Given the description of an element on the screen output the (x, y) to click on. 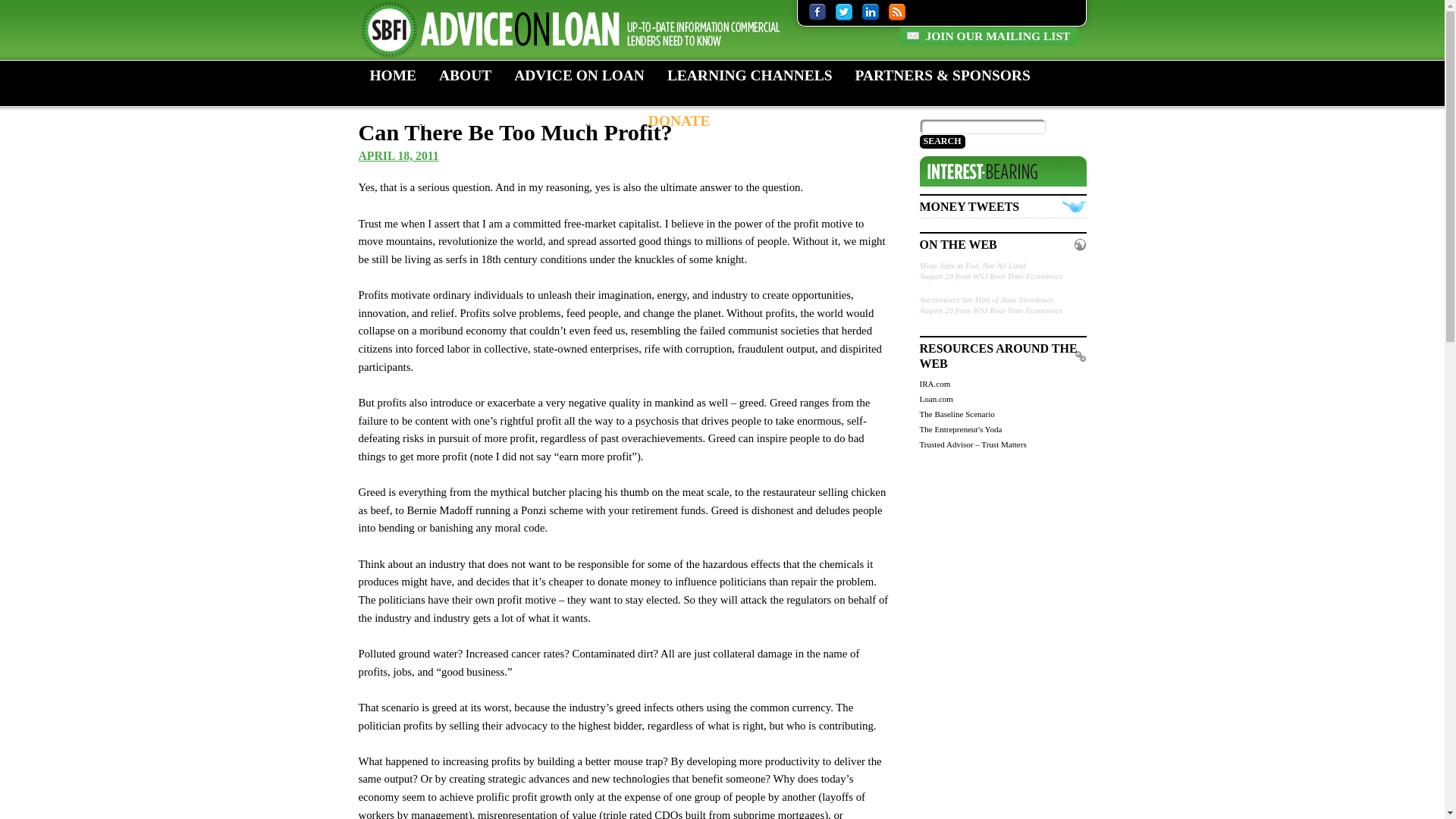
Search (940, 141)
APRIL 18, 2011 (398, 155)
9:00 AM (398, 155)
AdviceOnLoan (577, 29)
RSS (895, 10)
Search (940, 141)
